Given the description of an element on the screen output the (x, y) to click on. 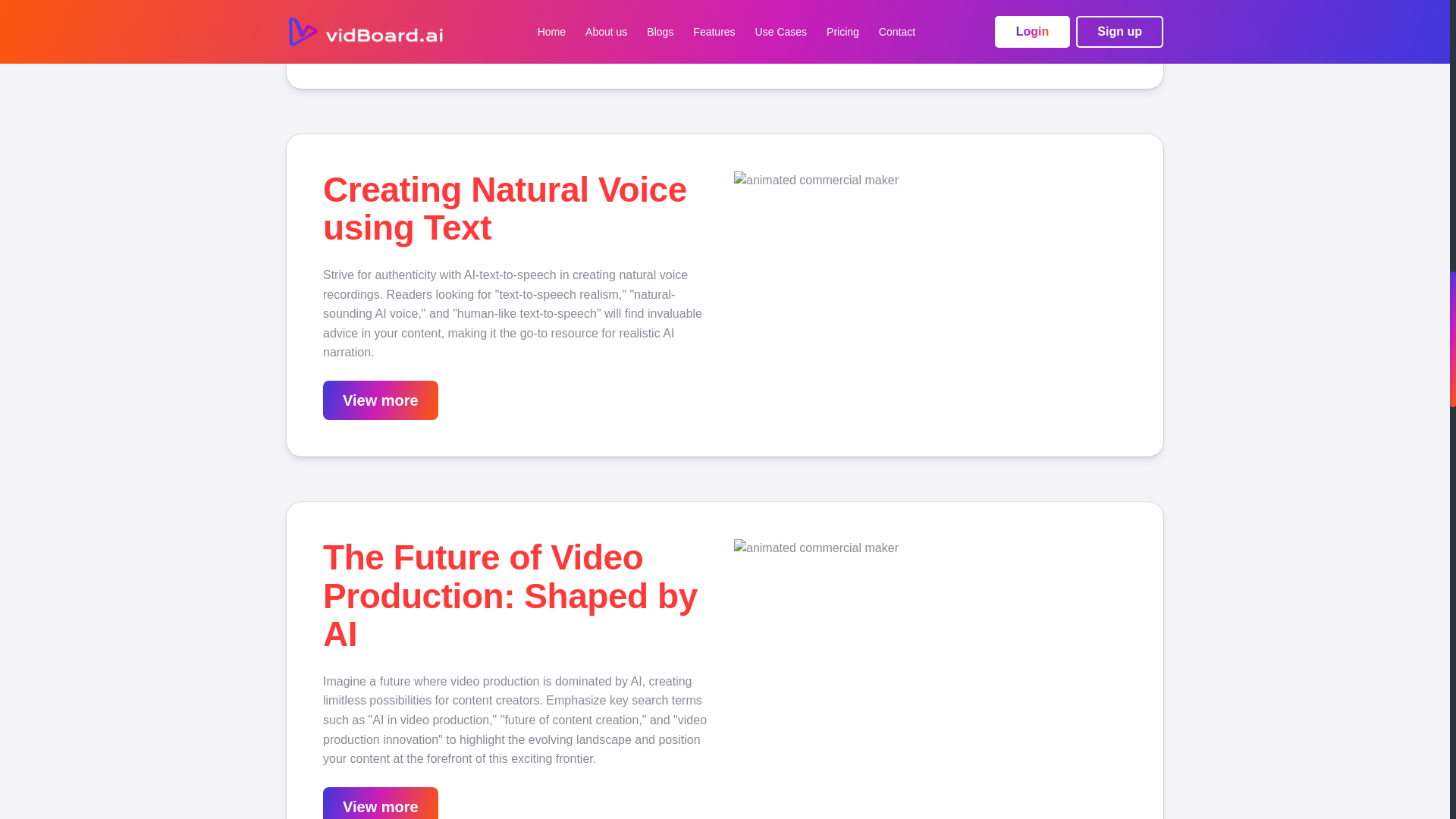
View more (380, 807)
View more (380, 803)
View more (380, 33)
View more (380, 32)
View more (380, 400)
View more (380, 400)
